Given the description of an element on the screen output the (x, y) to click on. 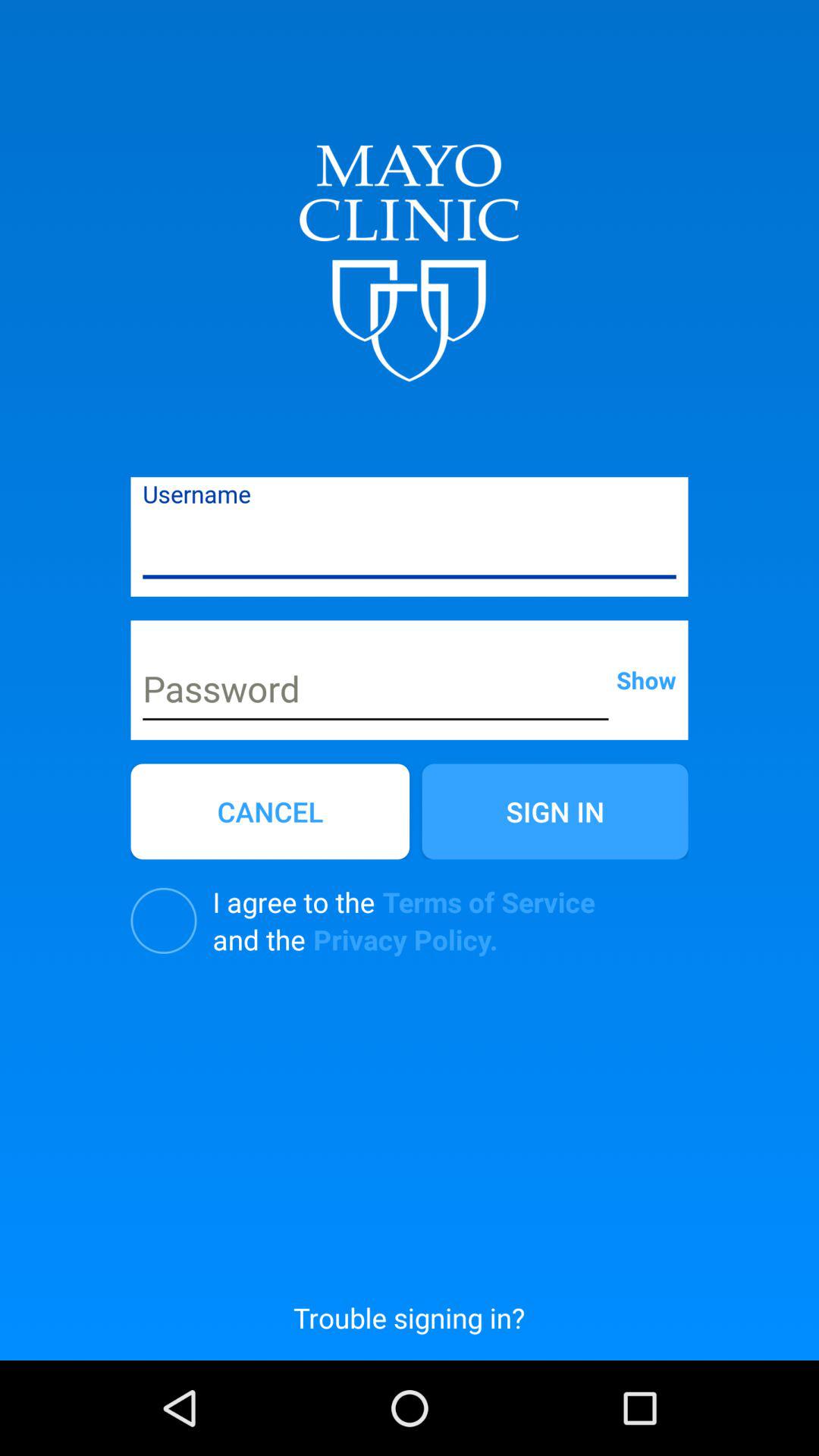
enter your name (409, 547)
